Given the description of an element on the screen output the (x, y) to click on. 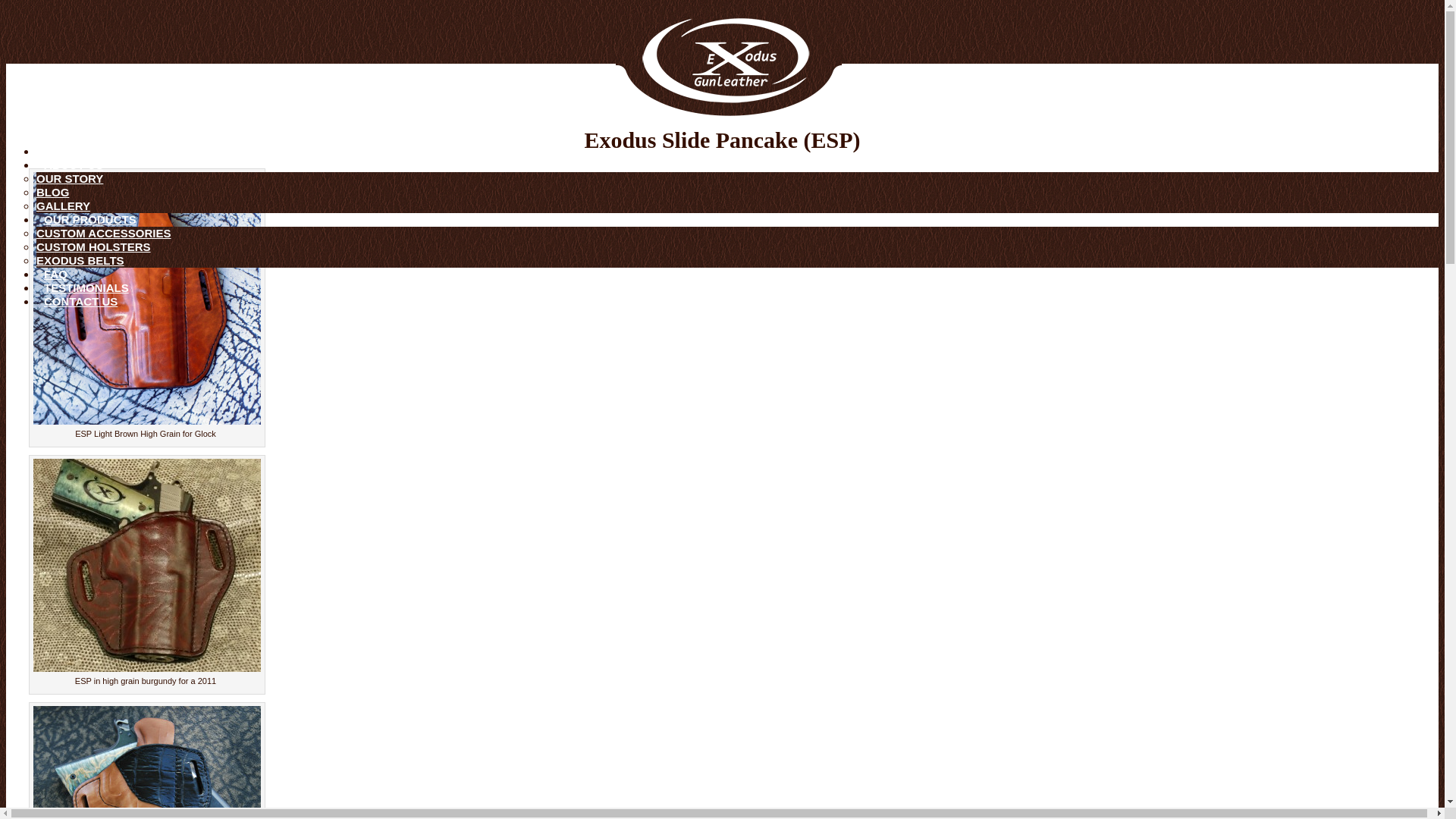
Gallery (63, 205)
Blog (52, 192)
CONTACT US (80, 301)
EXODUS BELTS (79, 259)
ABOUT US (73, 164)
FAQ (55, 274)
CUSTOM HOLSTERS (93, 246)
About Us (73, 164)
GALLERY (63, 205)
BLOG (52, 192)
